Given the description of an element on the screen output the (x, y) to click on. 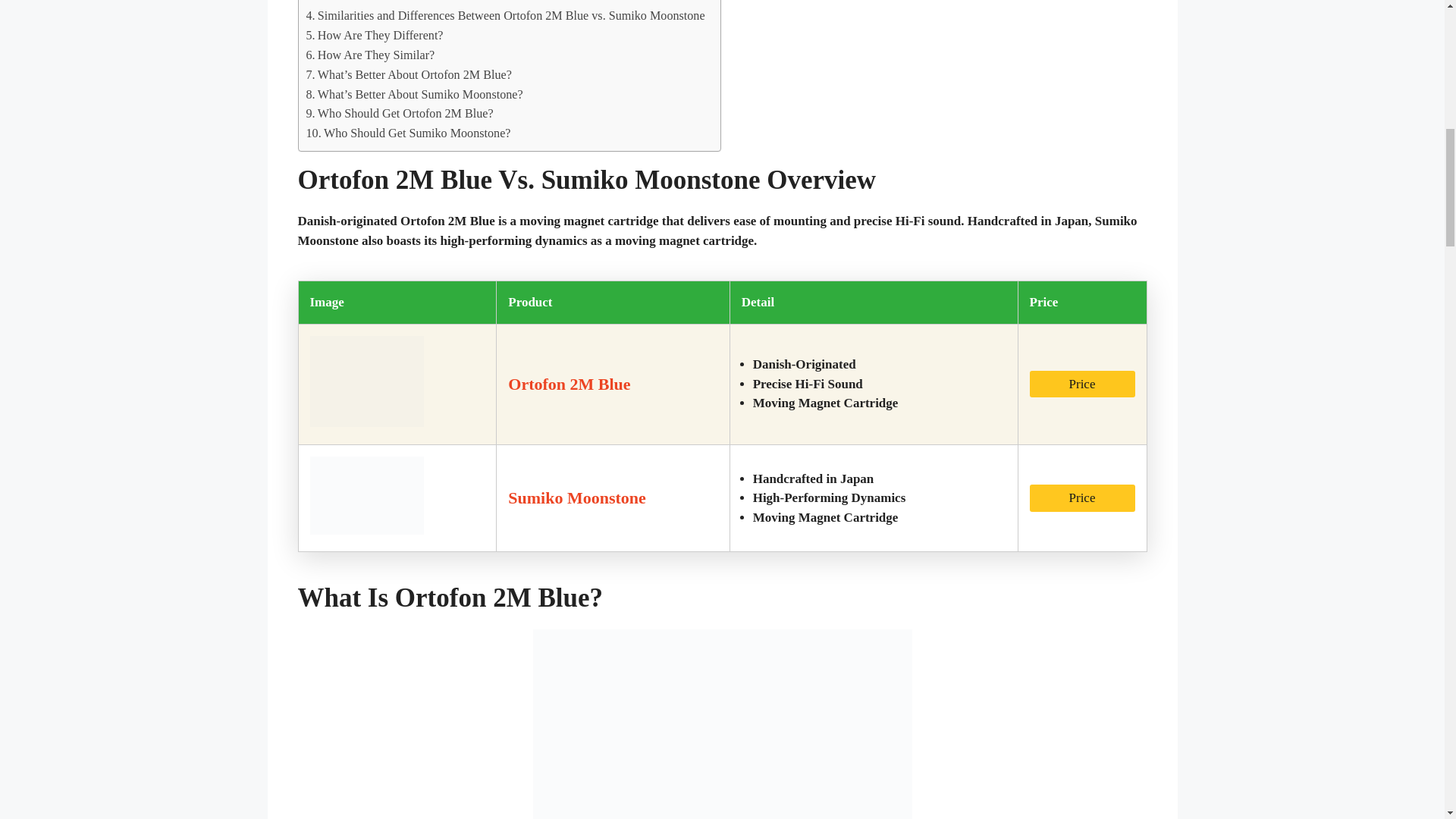
Who Should Get Ortofon 2M Blue? (399, 113)
What Is Sumiko Moonstone? (383, 2)
How Are They Different? (374, 35)
How Are They Similar? (370, 55)
